Given the description of an element on the screen output the (x, y) to click on. 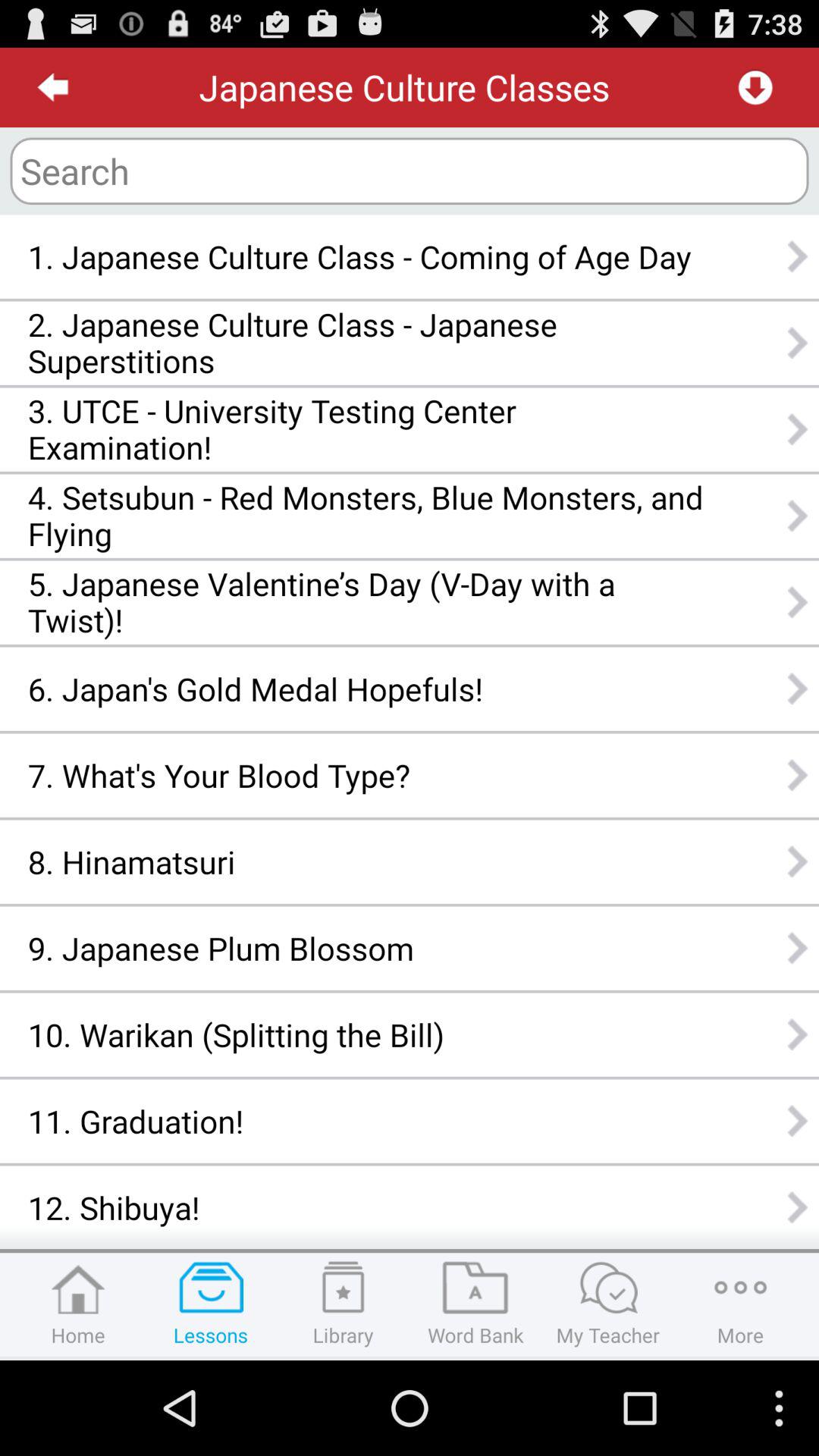
scroll until the 10 warikan splitting item (365, 1034)
